Given the description of an element on the screen output the (x, y) to click on. 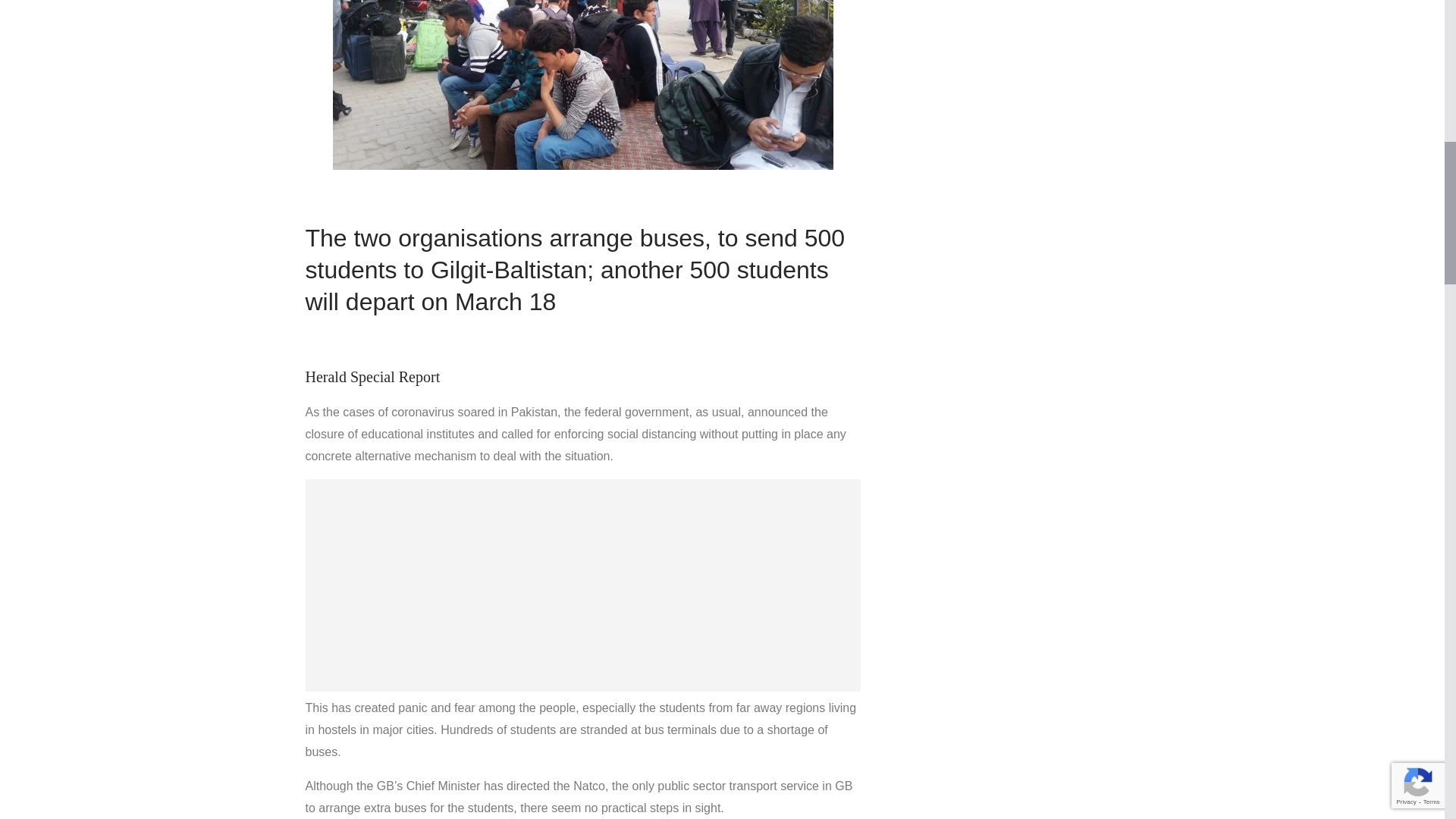
Advertisement (582, 585)
